Given the description of an element on the screen output the (x, y) to click on. 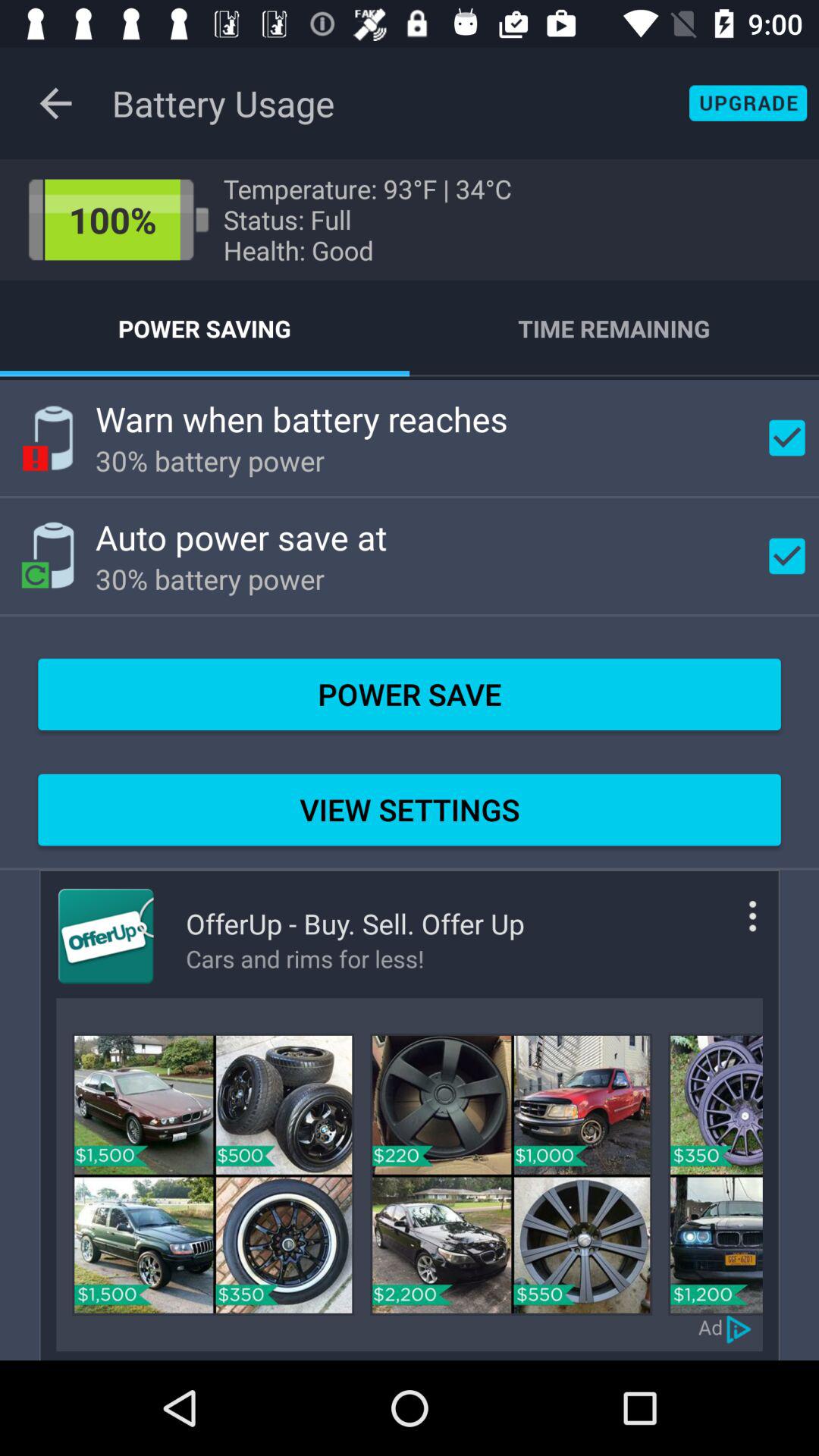
scroll to ad (710, 1326)
